Given the description of an element on the screen output the (x, y) to click on. 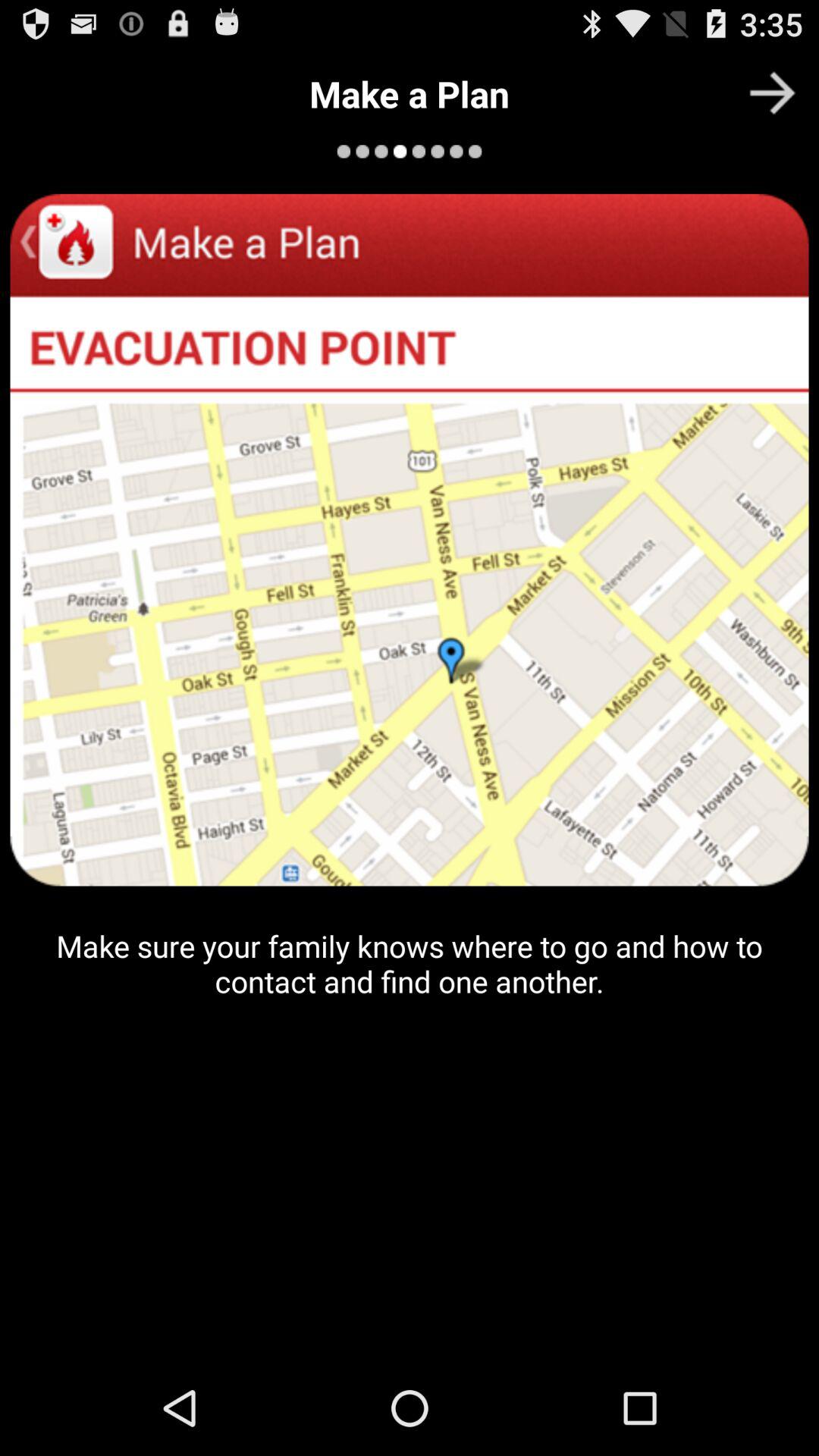
next button (772, 92)
